Given the description of an element on the screen output the (x, y) to click on. 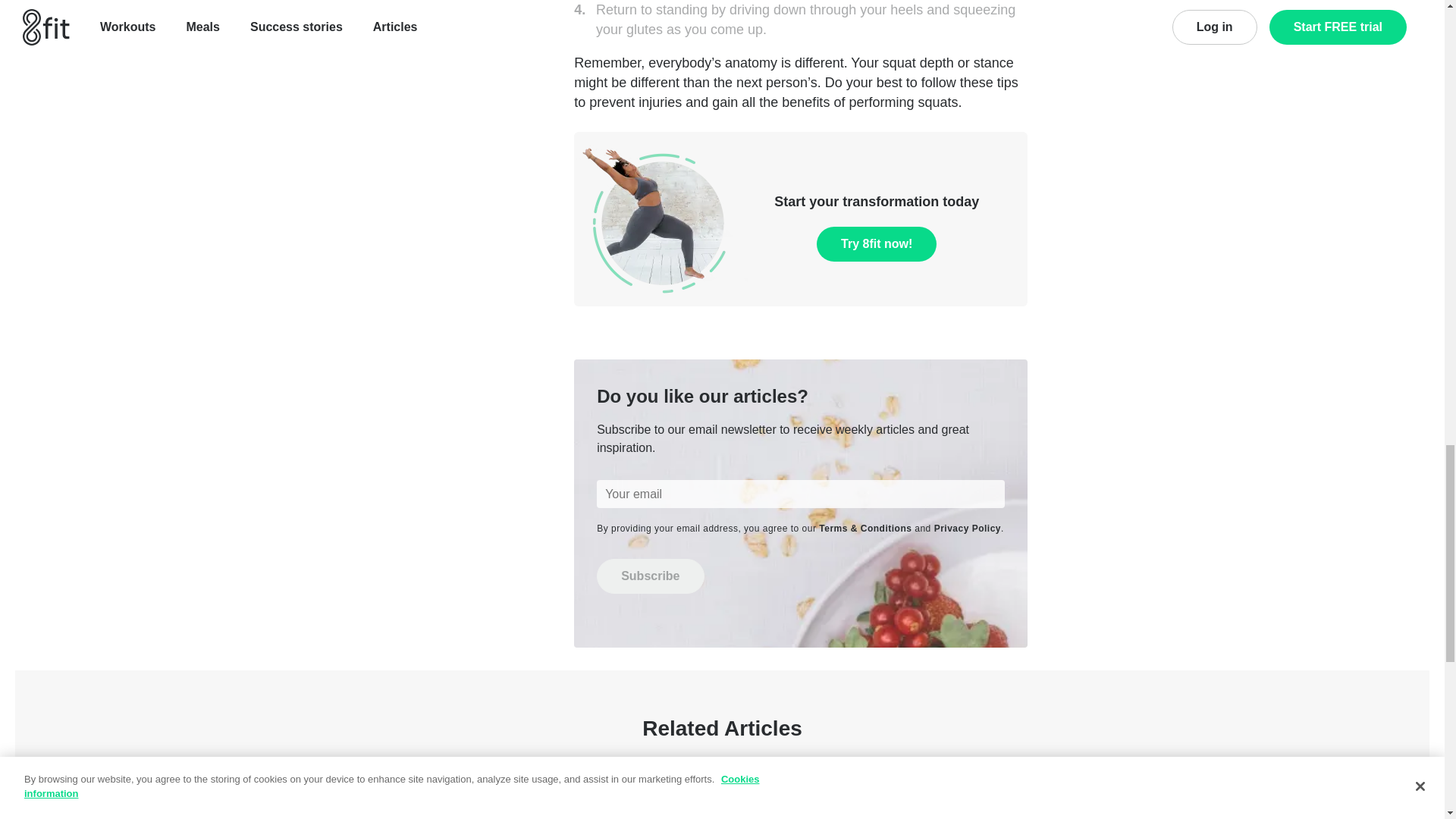
Privacy Policy (967, 528)
Try 8fit now! (876, 243)
Subscribe (649, 575)
Subscribe (649, 575)
Try 8fit now! (876, 243)
